Given the description of an element on the screen output the (x, y) to click on. 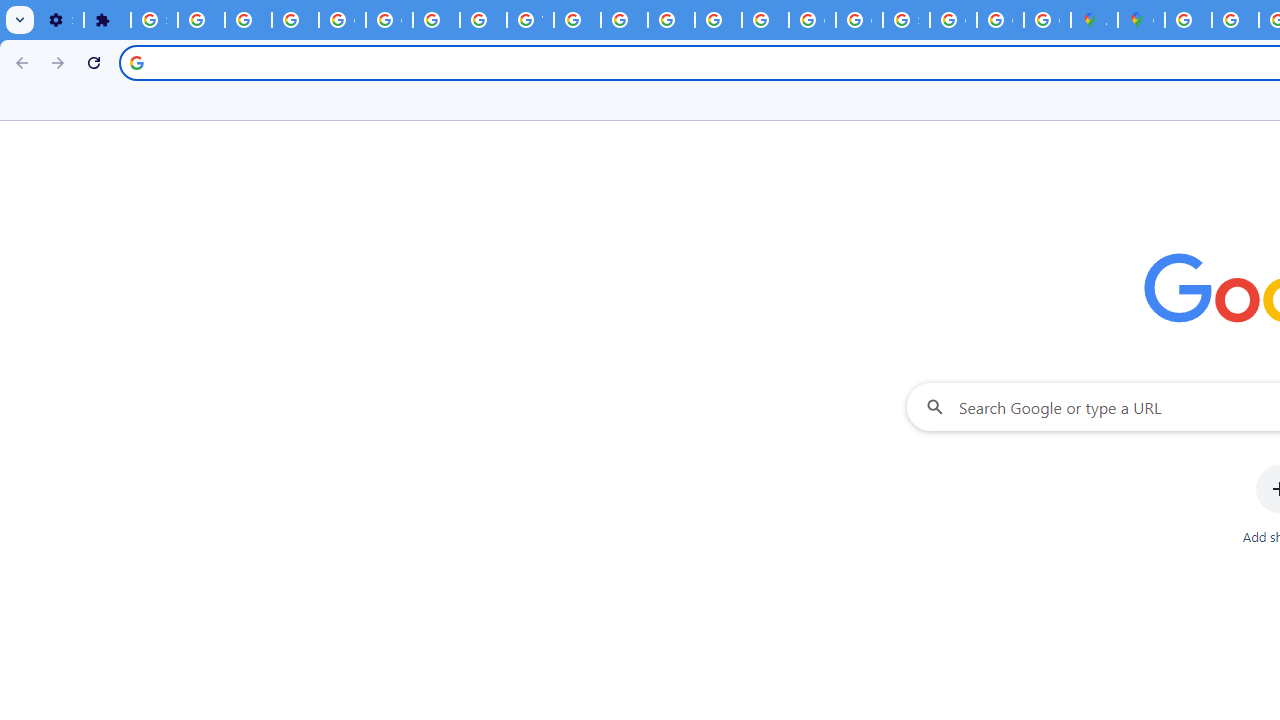
Privacy Help Center - Policies Help (623, 20)
https://scholar.google.com/ (577, 20)
Extensions (107, 20)
Google Account Help (342, 20)
Privacy Help Center - Policies Help (1235, 20)
Delete photos & videos - Computer - Google Photos Help (201, 20)
